Given the description of an element on the screen output the (x, y) to click on. 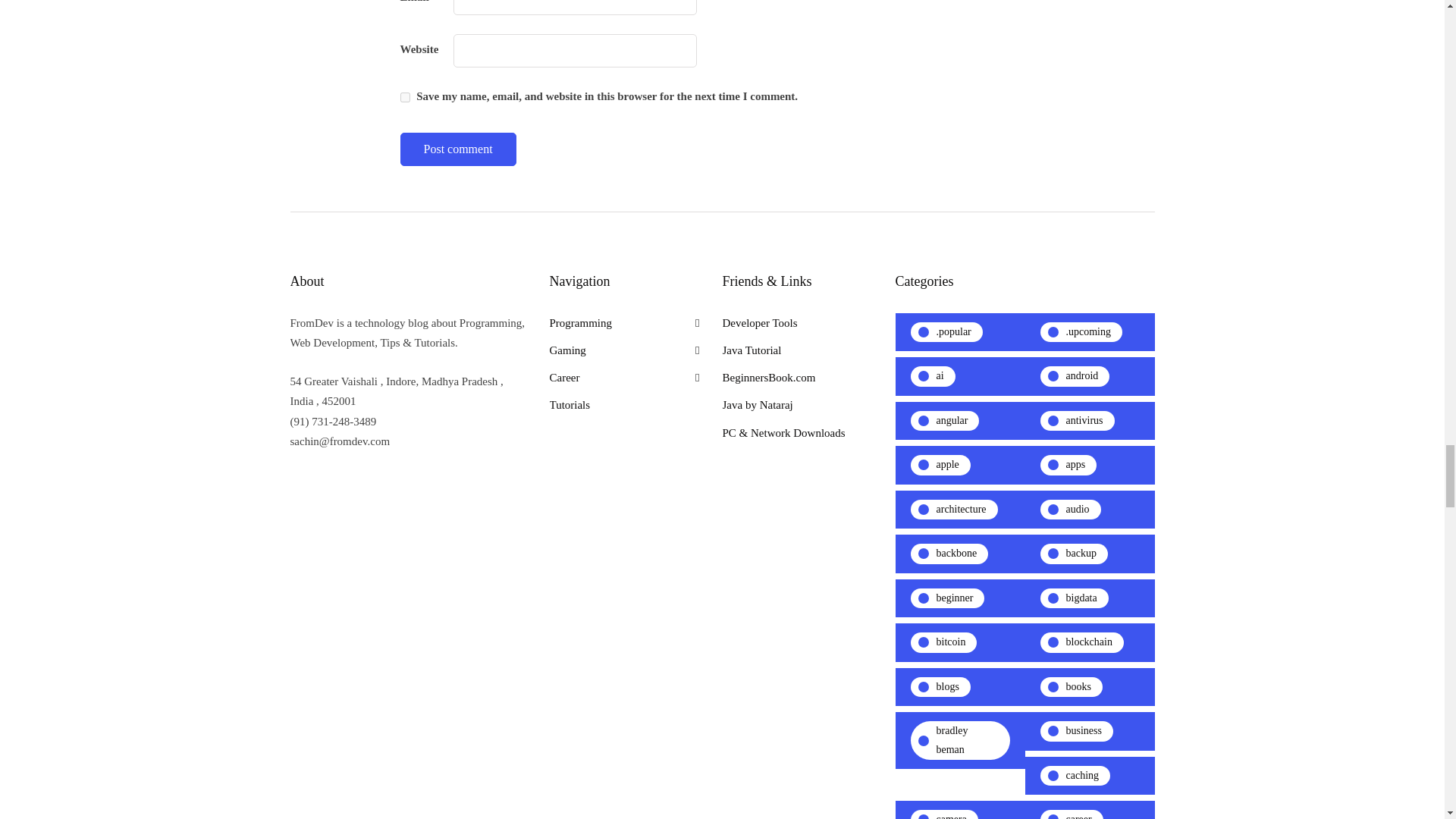
Post comment (458, 149)
yes (405, 97)
